Given the description of an element on the screen output the (x, y) to click on. 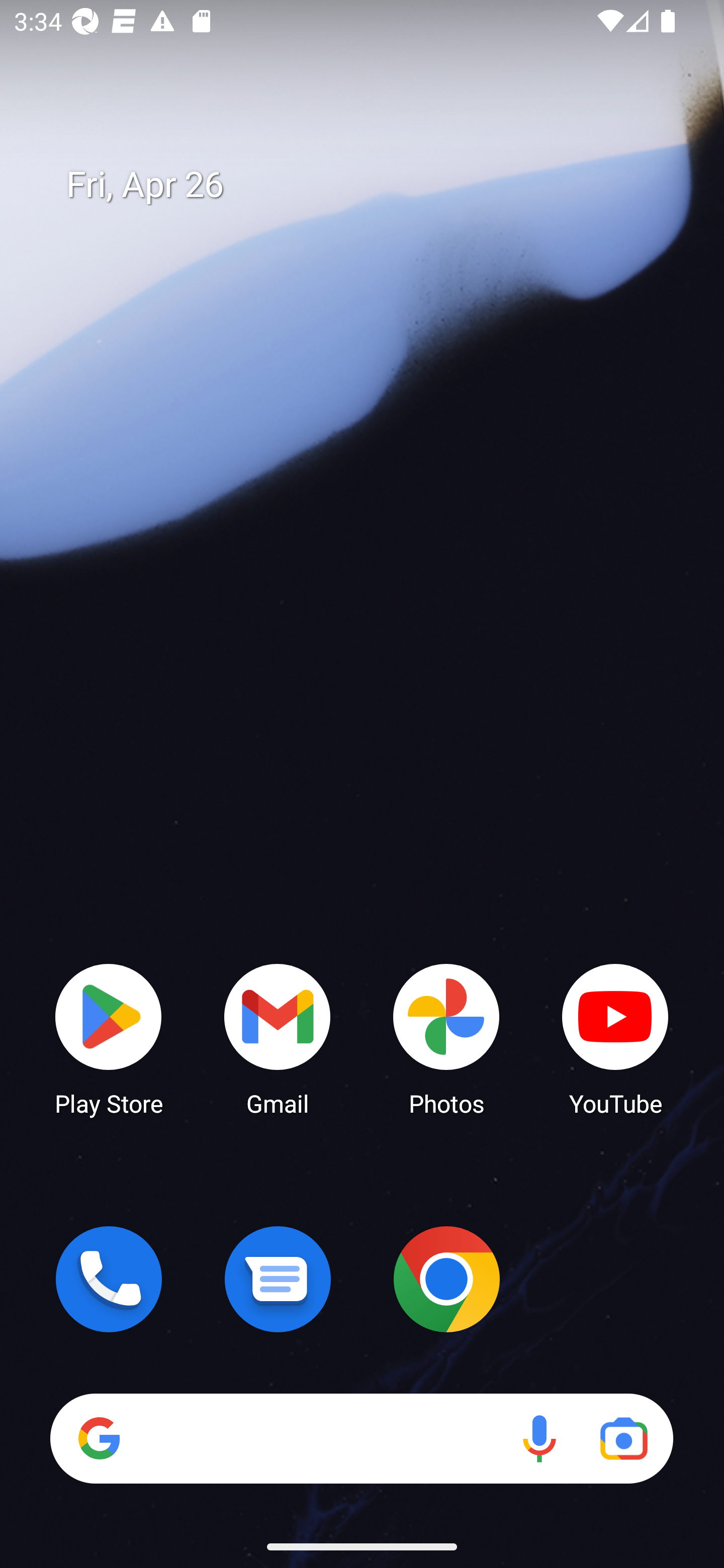
Fri, Apr 26 (375, 184)
Play Store (108, 1038)
Gmail (277, 1038)
Photos (445, 1038)
YouTube (615, 1038)
Phone (108, 1279)
Messages (277, 1279)
Chrome (446, 1279)
Search Voice search Google Lens (361, 1438)
Voice search (539, 1438)
Google Lens (623, 1438)
